Given the description of an element on the screen output the (x, y) to click on. 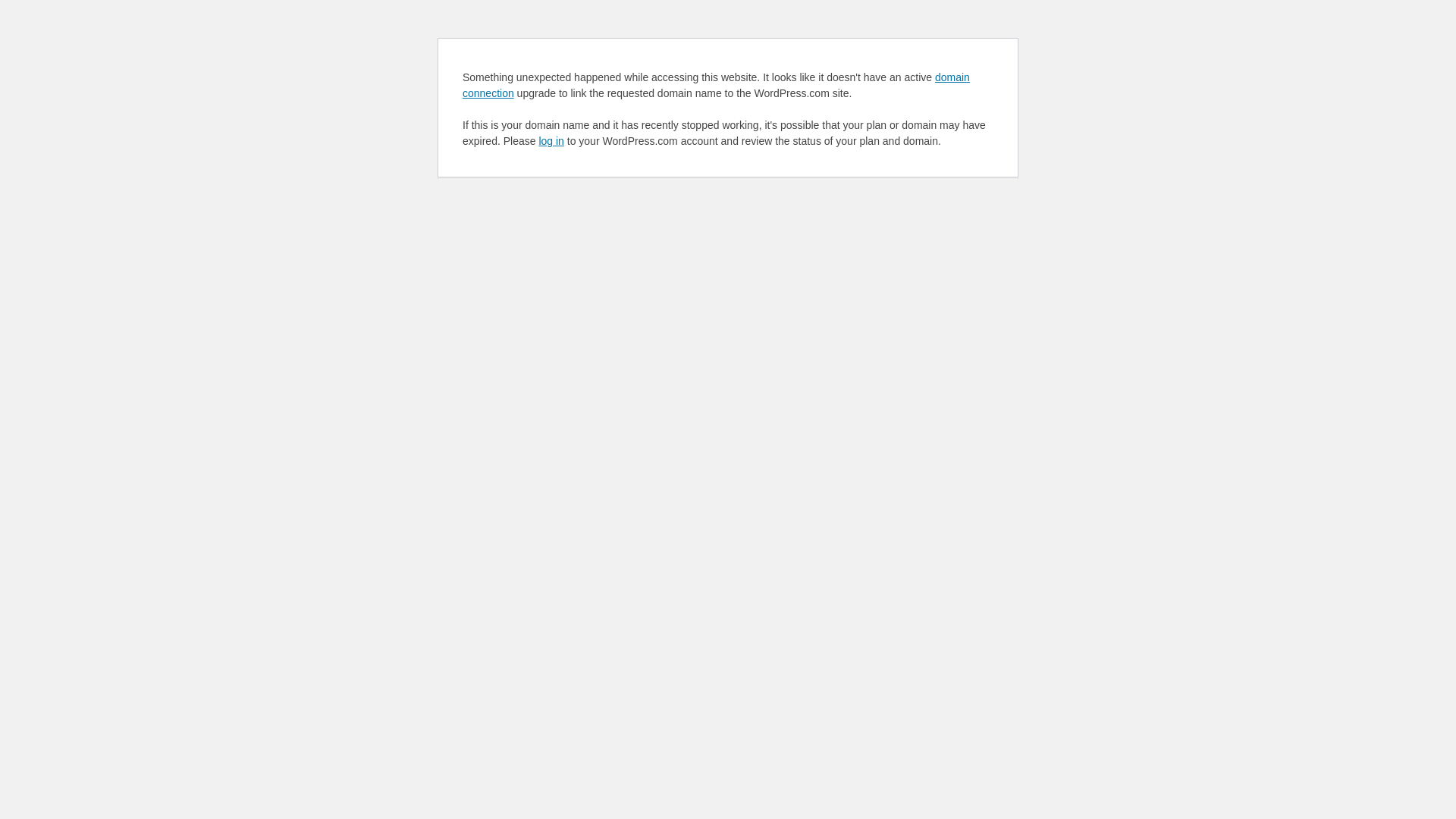
domain connection Element type: text (715, 85)
log in Element type: text (550, 140)
